Given the description of an element on the screen output the (x, y) to click on. 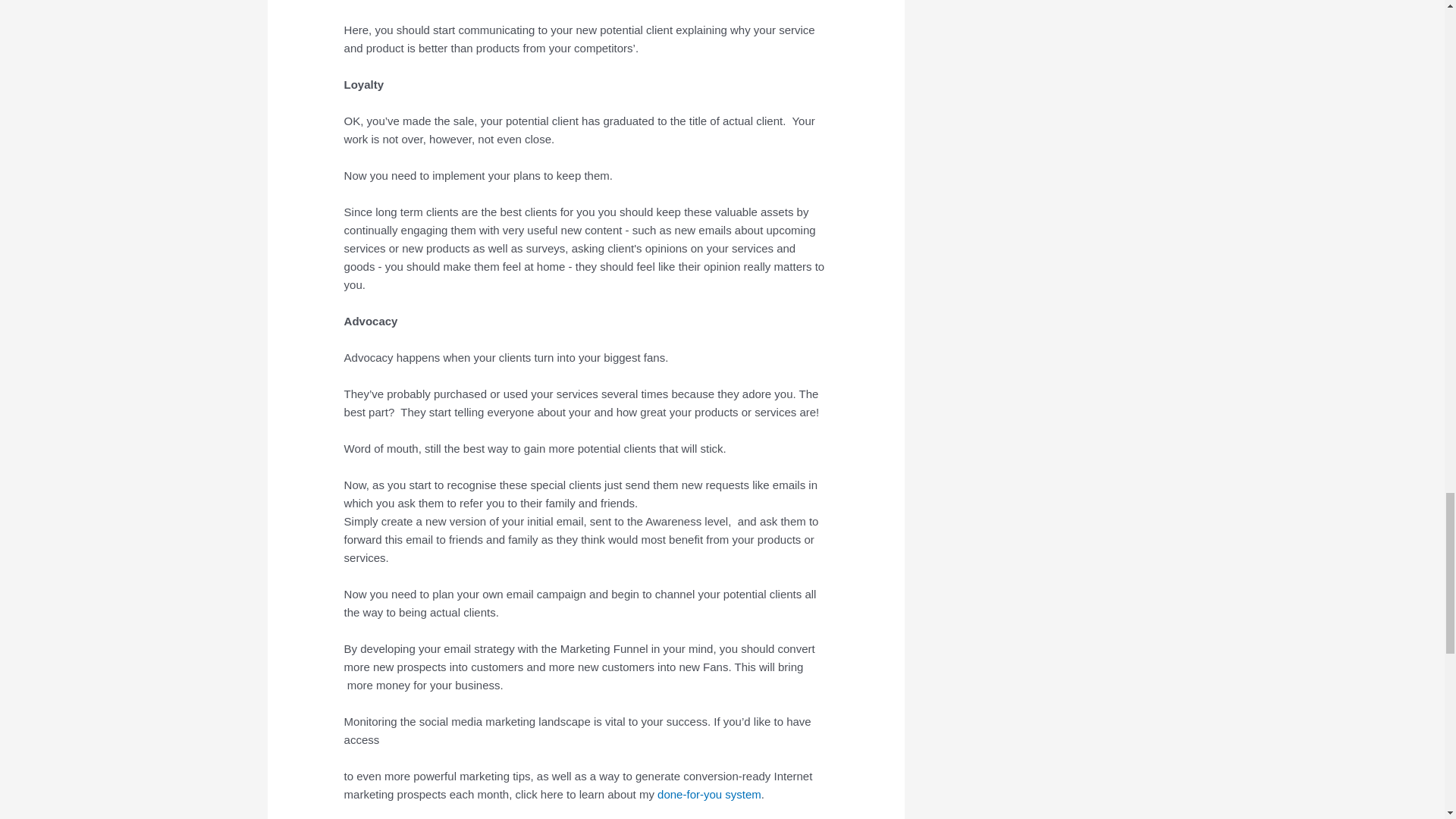
done-for-you system (709, 793)
